Given the description of an element on the screen output the (x, y) to click on. 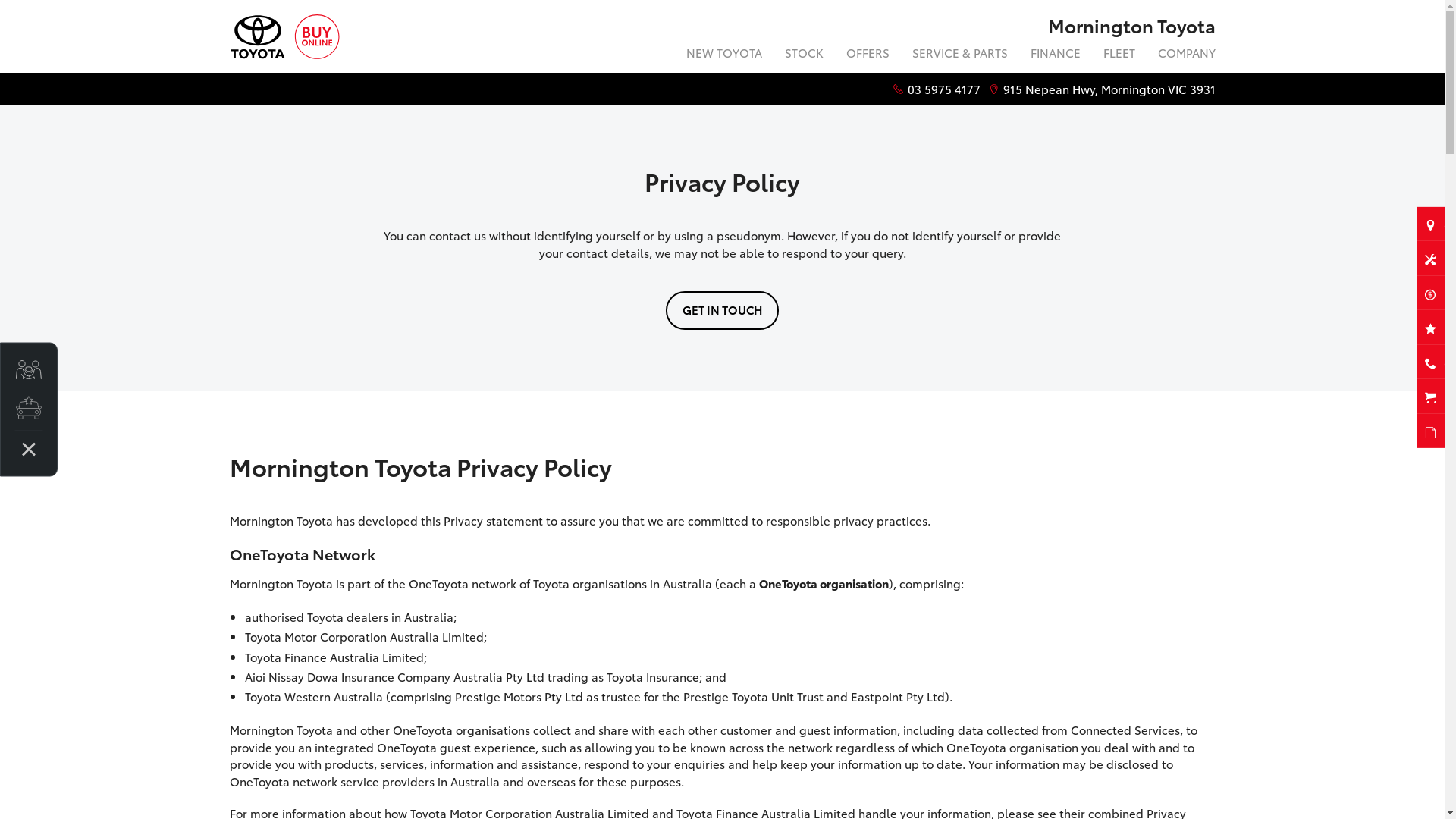
COMPANY Element type: text (1180, 54)
FINANCE Element type: text (1055, 54)
NEW TOYOTA Element type: text (723, 54)
03 5975 4177 Element type: text (942, 88)
915 Nepean Hwy, Mornington VIC 3931 Element type: text (1108, 88)
STOCK Element type: text (803, 54)
GET IN TOUCH Element type: text (721, 310)
FLEET Element type: text (1119, 54)
SERVICE & PARTS Element type: text (959, 54)
OFFERS Element type: text (867, 54)
